Given the description of an element on the screen output the (x, y) to click on. 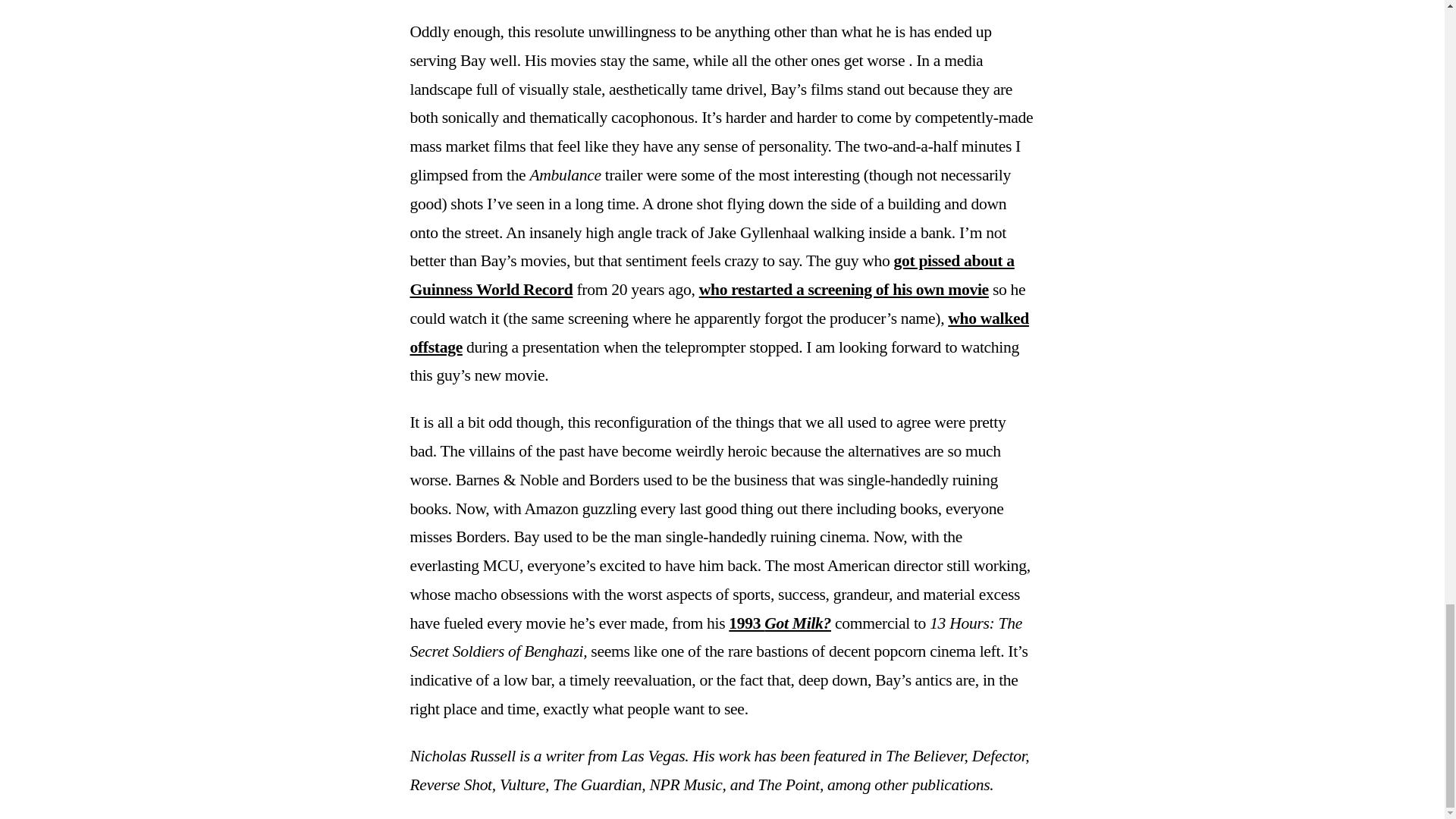
who walked offstage (718, 332)
who restarted a screening of his own movie (843, 289)
1993 Got Milk? (780, 623)
got pissed about a Guinness World Record (711, 274)
